Given the description of an element on the screen output the (x, y) to click on. 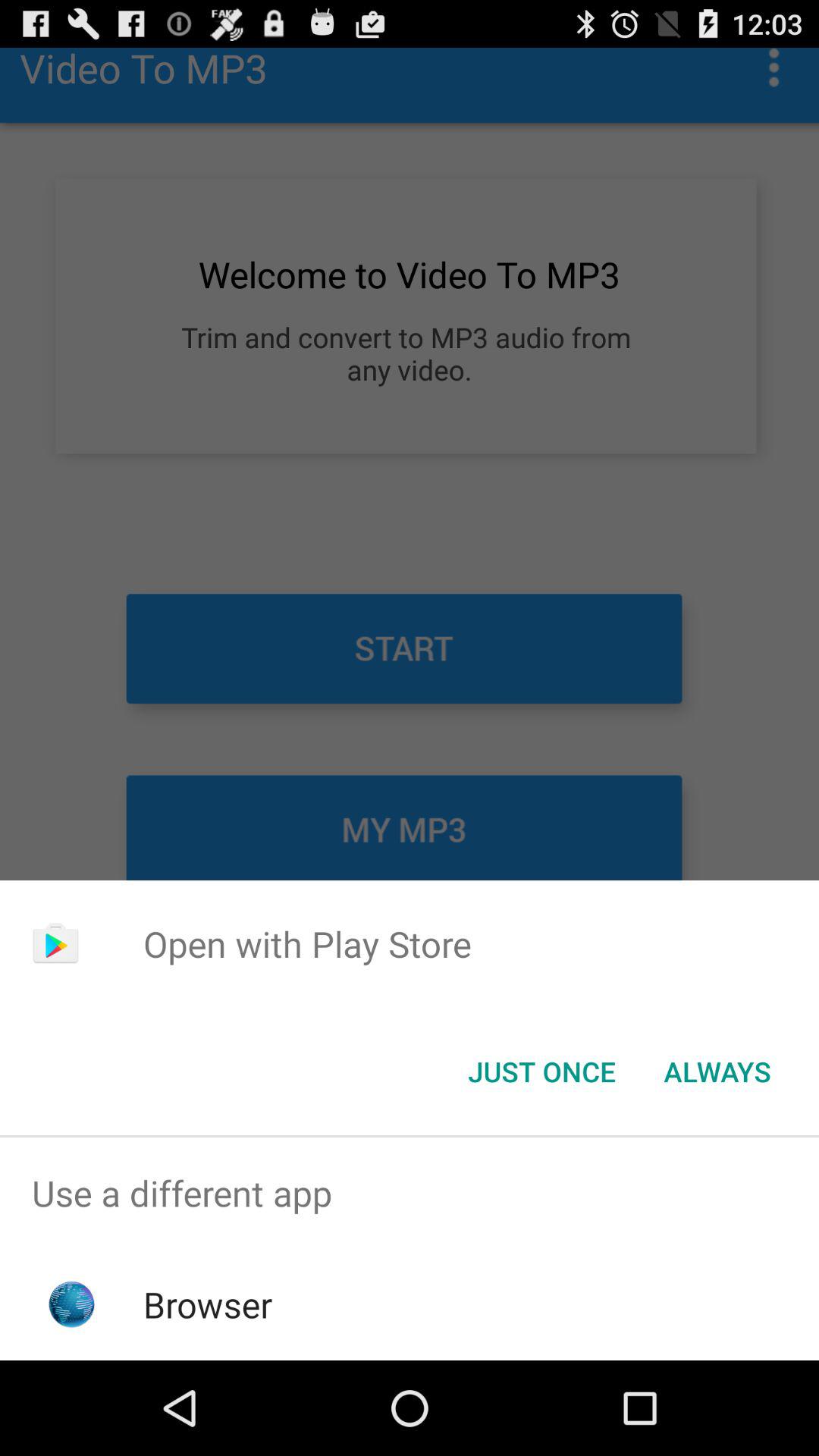
click the button to the right of just once icon (717, 1071)
